Given the description of an element on the screen output the (x, y) to click on. 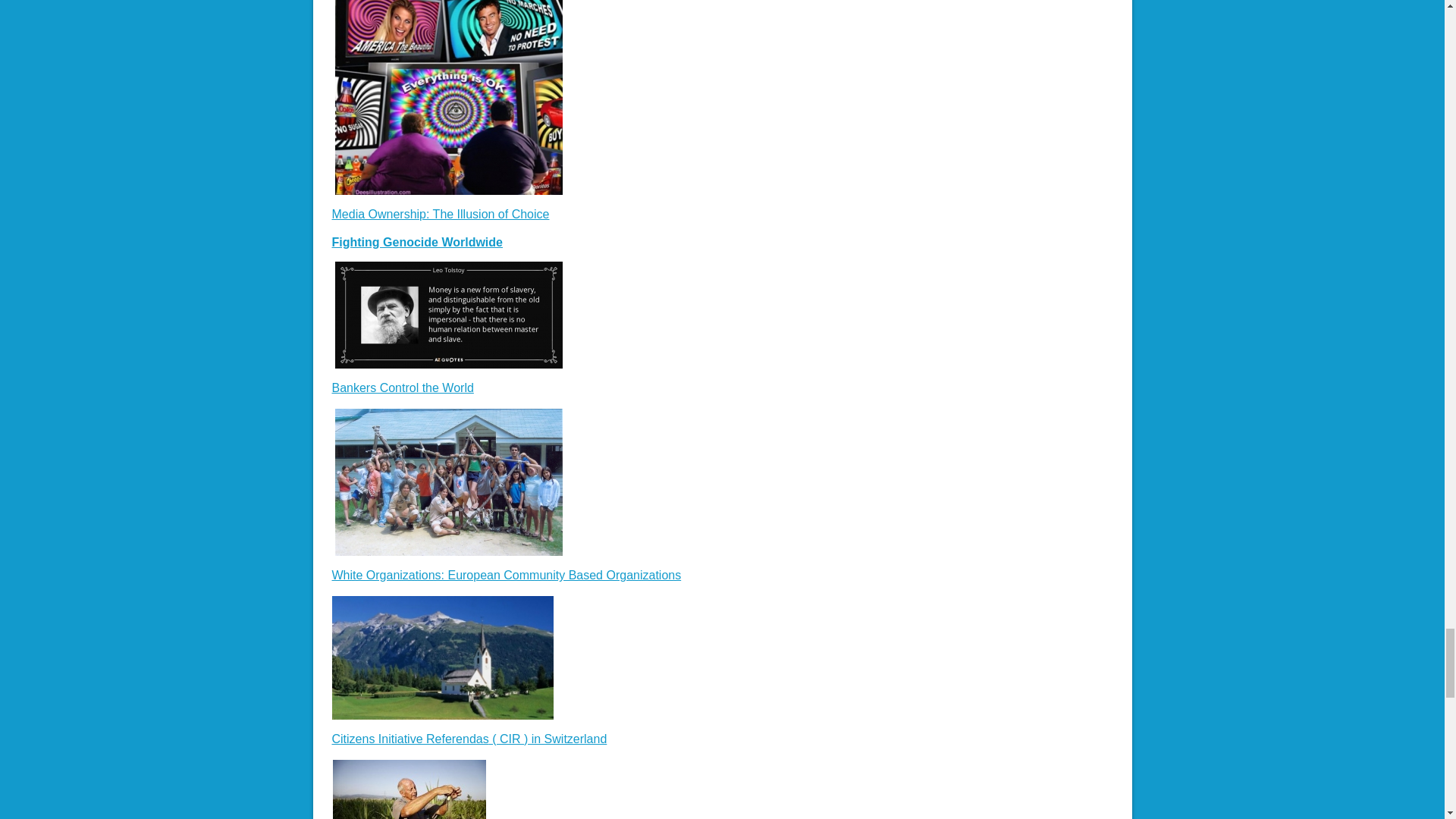
Media Ownership: The Illusion of Choice (440, 214)
